Given the description of an element on the screen output the (x, y) to click on. 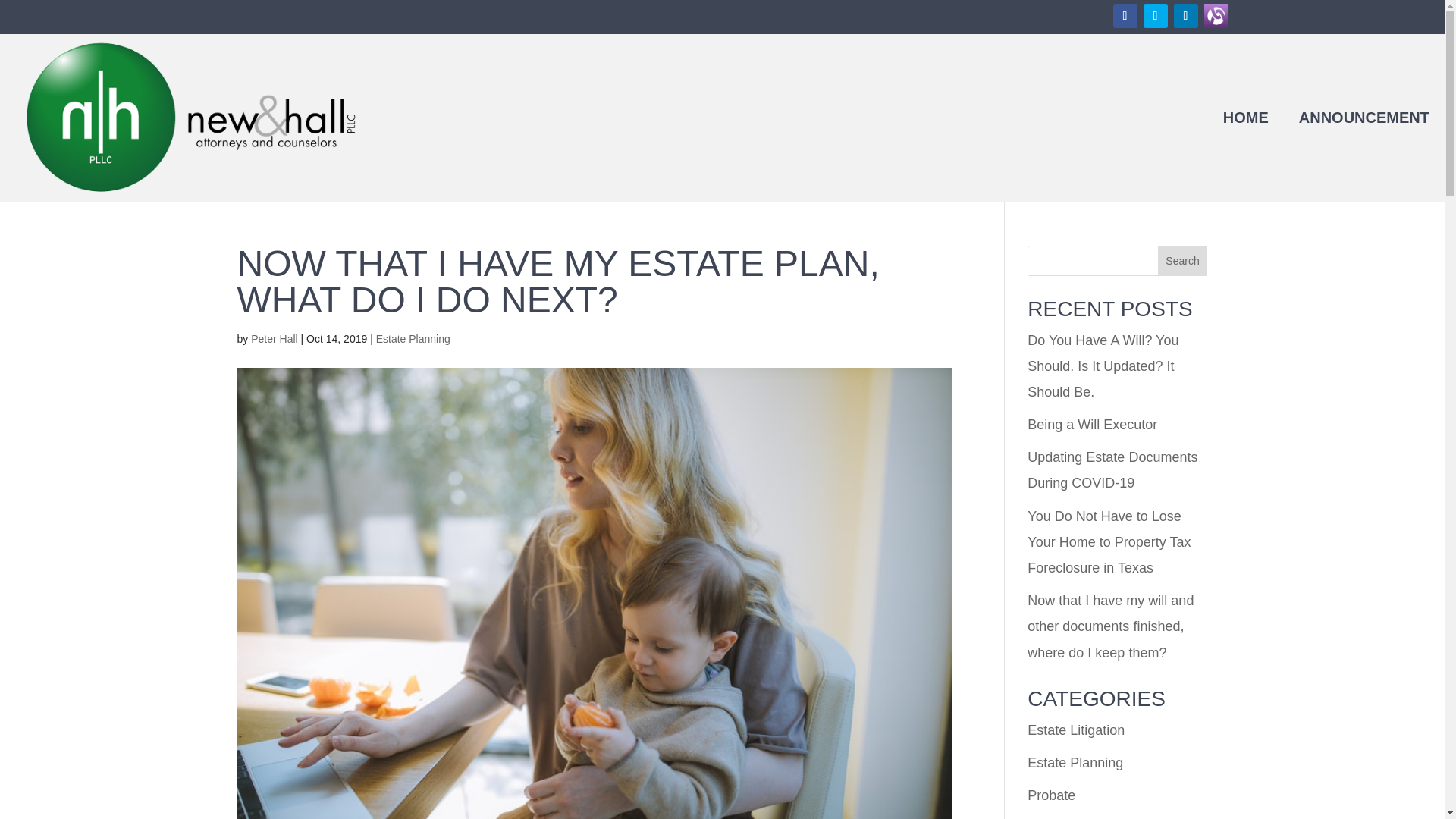
Peter Hall (273, 337)
Estate Planning (1074, 762)
Follow on LinkedIn (1185, 15)
Search (1182, 260)
Search (1182, 260)
Estate Planning (412, 337)
Probate (1051, 795)
Follow on Twitter (1154, 15)
Updating Estate Documents During COVID-19 (1111, 469)
Being a Will Executor (1092, 424)
Do You Have A Will? You Should. Is It Updated? It Should Be. (1102, 365)
alignable (1216, 15)
Posts by Peter Hall (273, 337)
